Given the description of an element on the screen output the (x, y) to click on. 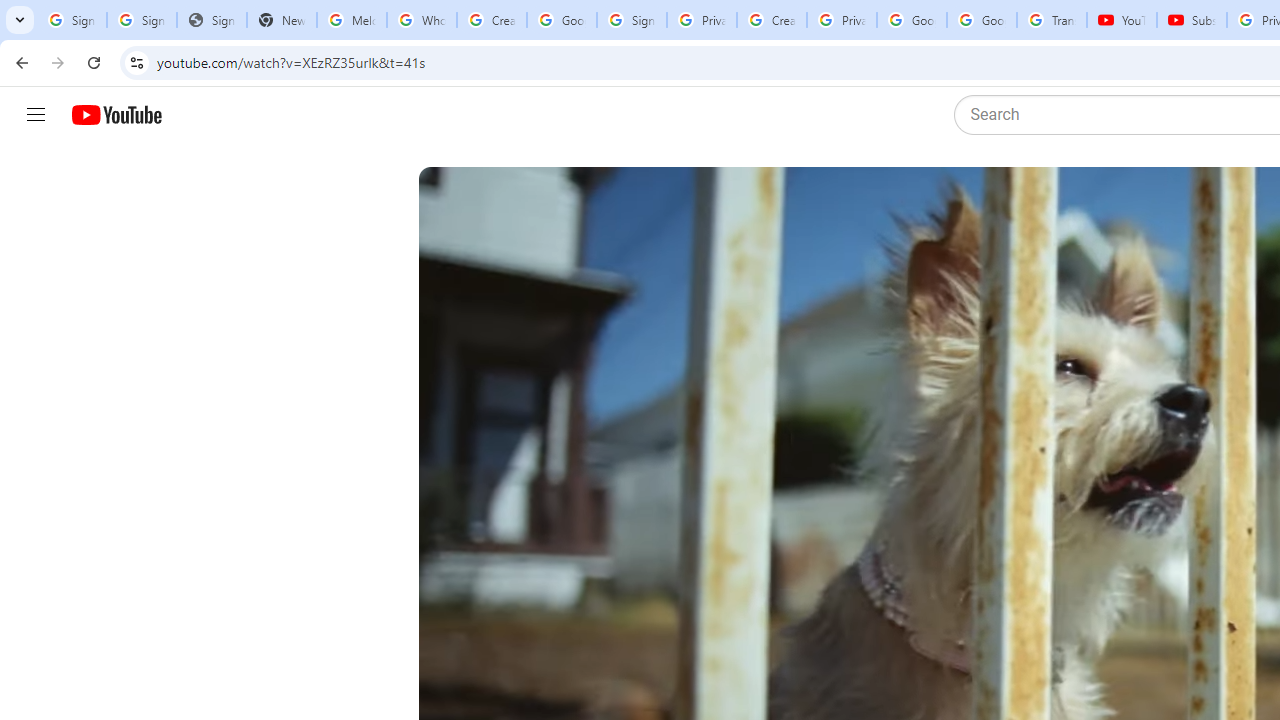
Google Account (982, 20)
Create your Google Account (492, 20)
Subscriptions - YouTube (1192, 20)
New Tab (282, 20)
Sign in - Google Accounts (631, 20)
